Given the description of an element on the screen output the (x, y) to click on. 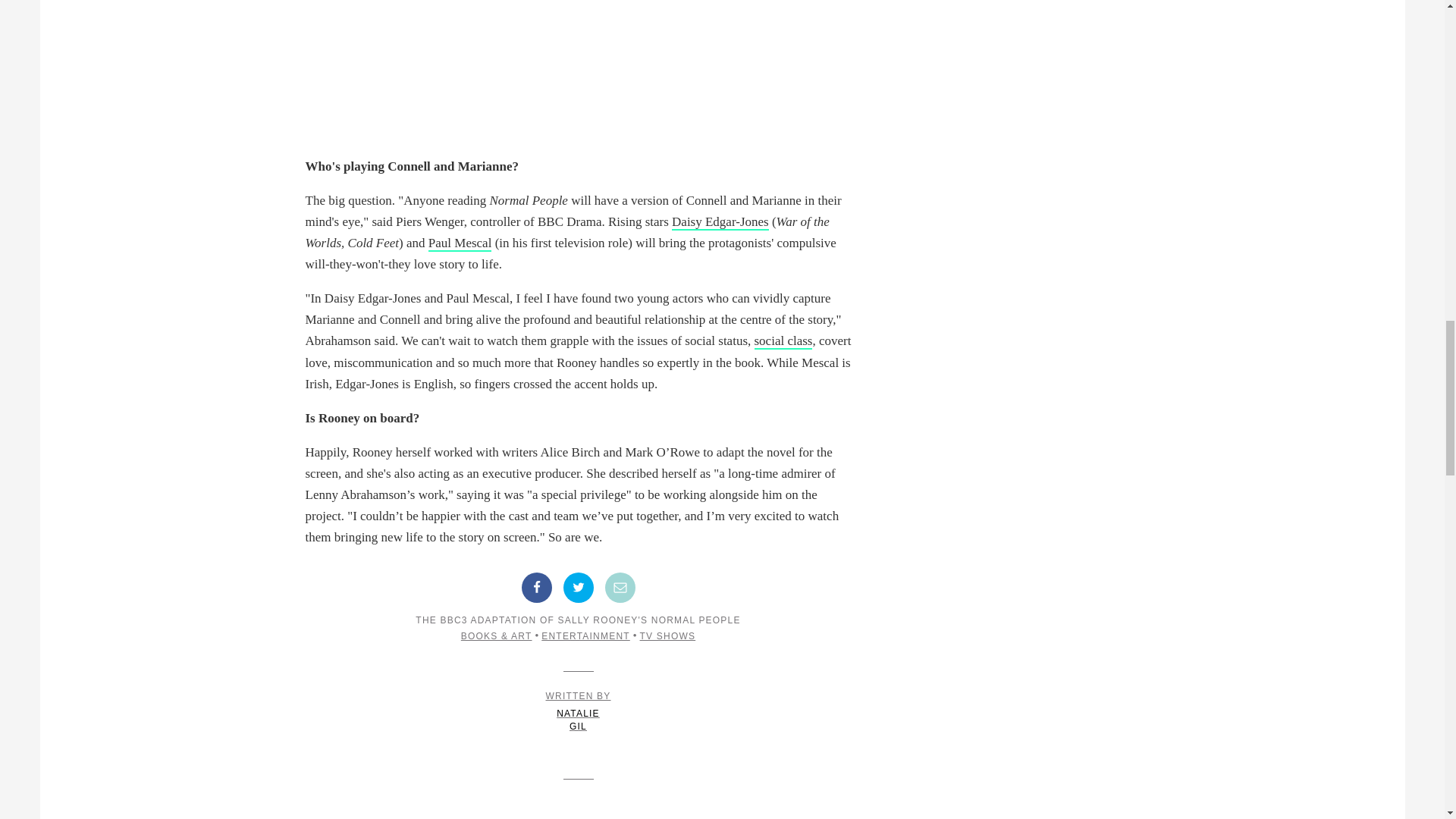
social class (783, 341)
Share on Twitter (577, 587)
TV SHOWS (667, 635)
Share by Email (619, 587)
Paul Mescal (460, 243)
ENTERTAINMENT (585, 635)
Daisy Edgar-Jones (719, 222)
